Given the description of an element on the screen output the (x, y) to click on. 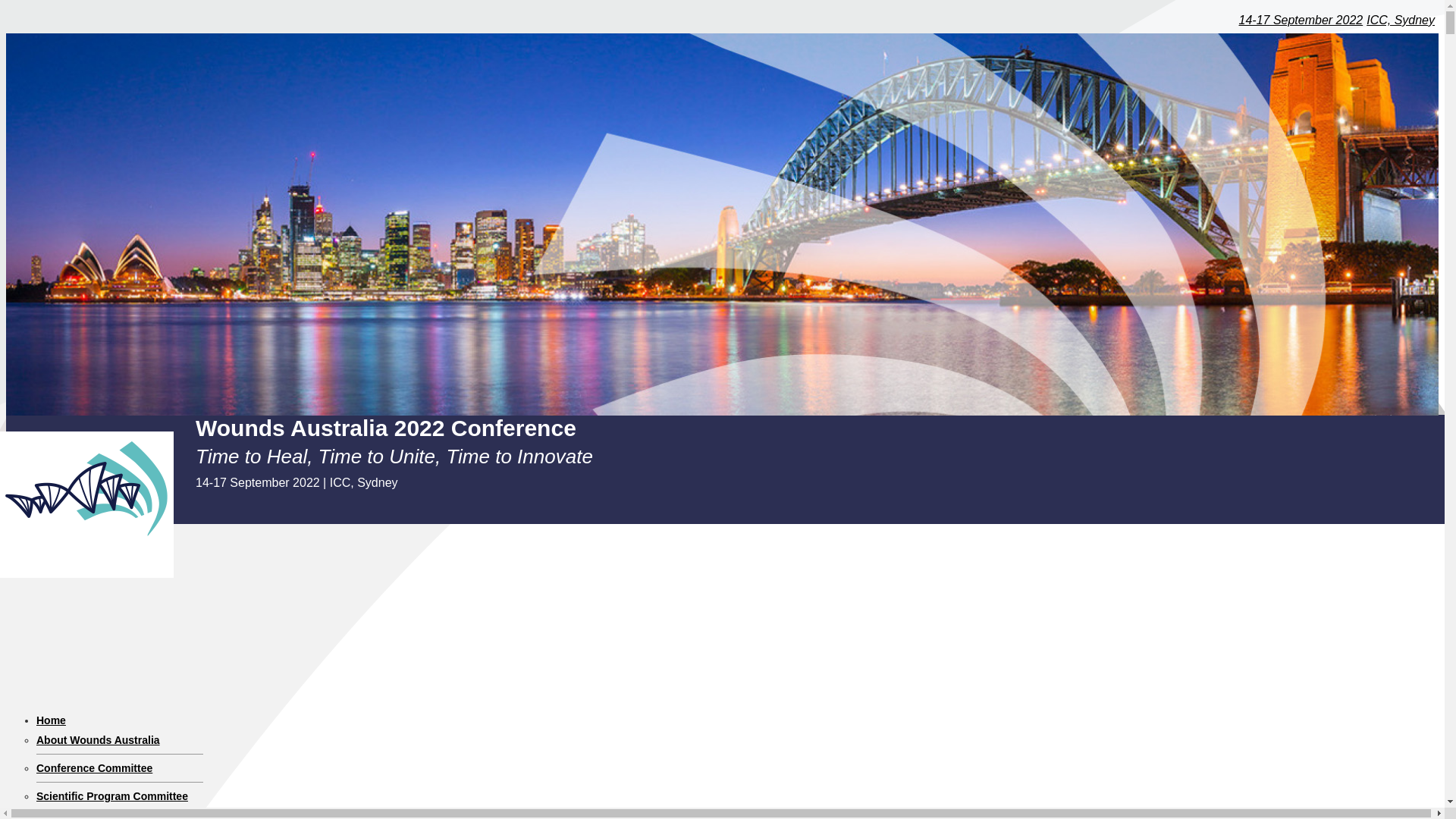
ICC, Sydney (1400, 19)
Scientific Program Committee (111, 796)
Conference Committee (94, 767)
14-17 September 2022 (1300, 19)
Toggle navigation (51, 531)
Home (50, 720)
About Wounds Australia (98, 739)
